Given the description of an element on the screen output the (x, y) to click on. 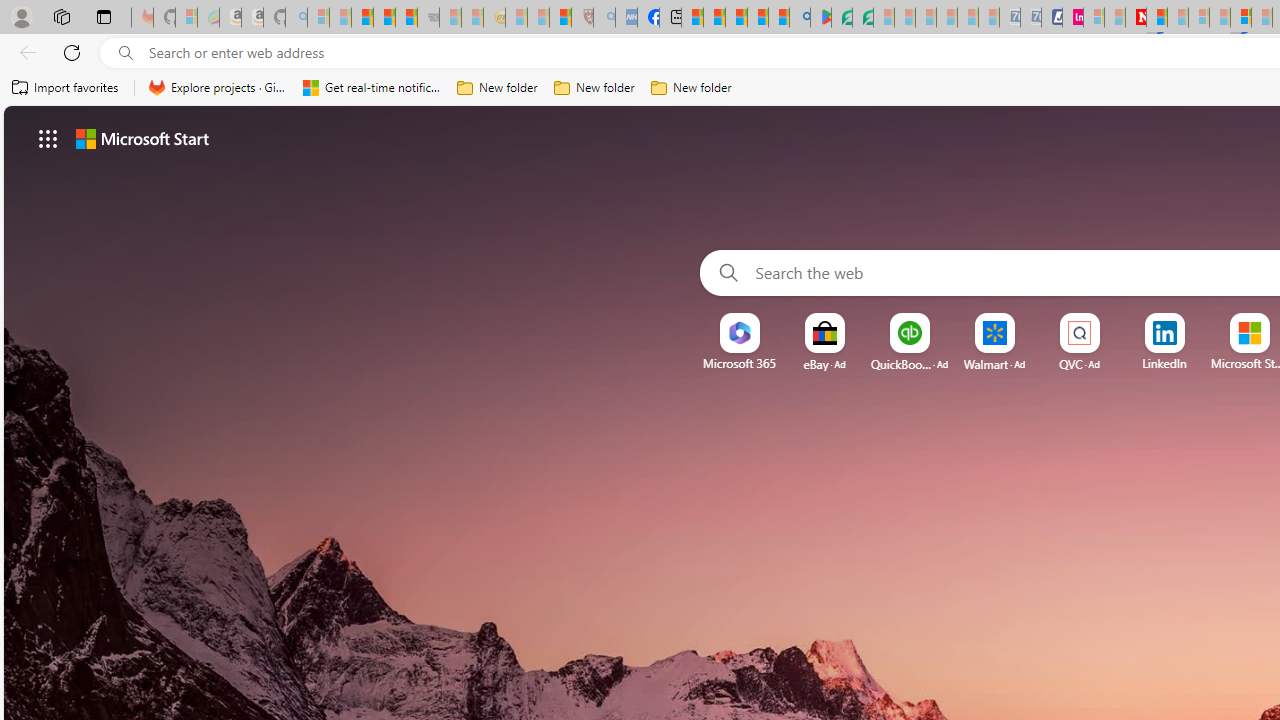
New folder (691, 88)
Latest Politics News & Archive | Newsweek.com (1135, 17)
LinkedIn (1163, 363)
Pets - MSN (757, 17)
